Given the description of an element on the screen output the (x, y) to click on. 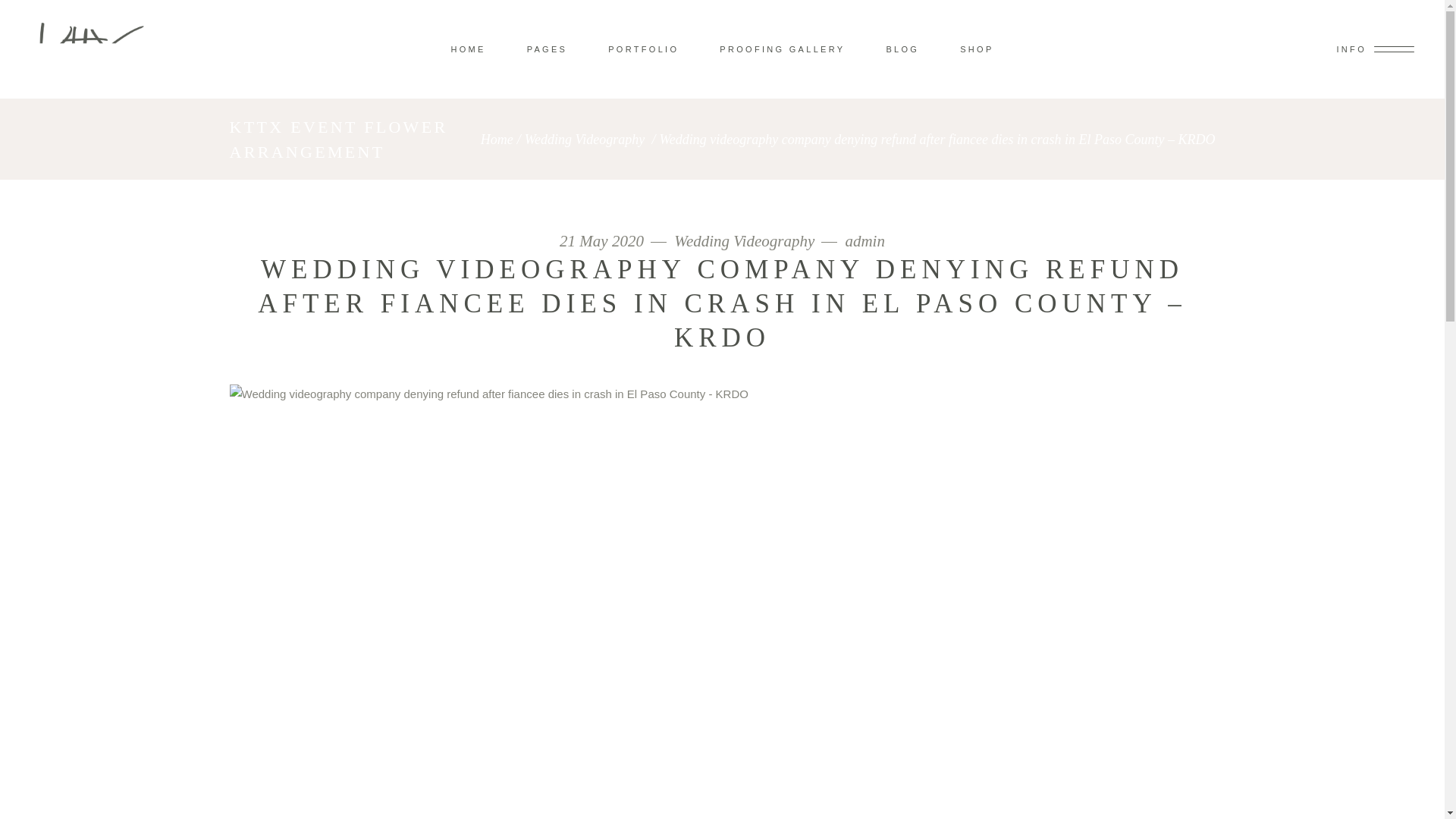
PAGES (547, 49)
PORTFOLIO (643, 49)
HOME (467, 49)
